Given the description of an element on the screen output the (x, y) to click on. 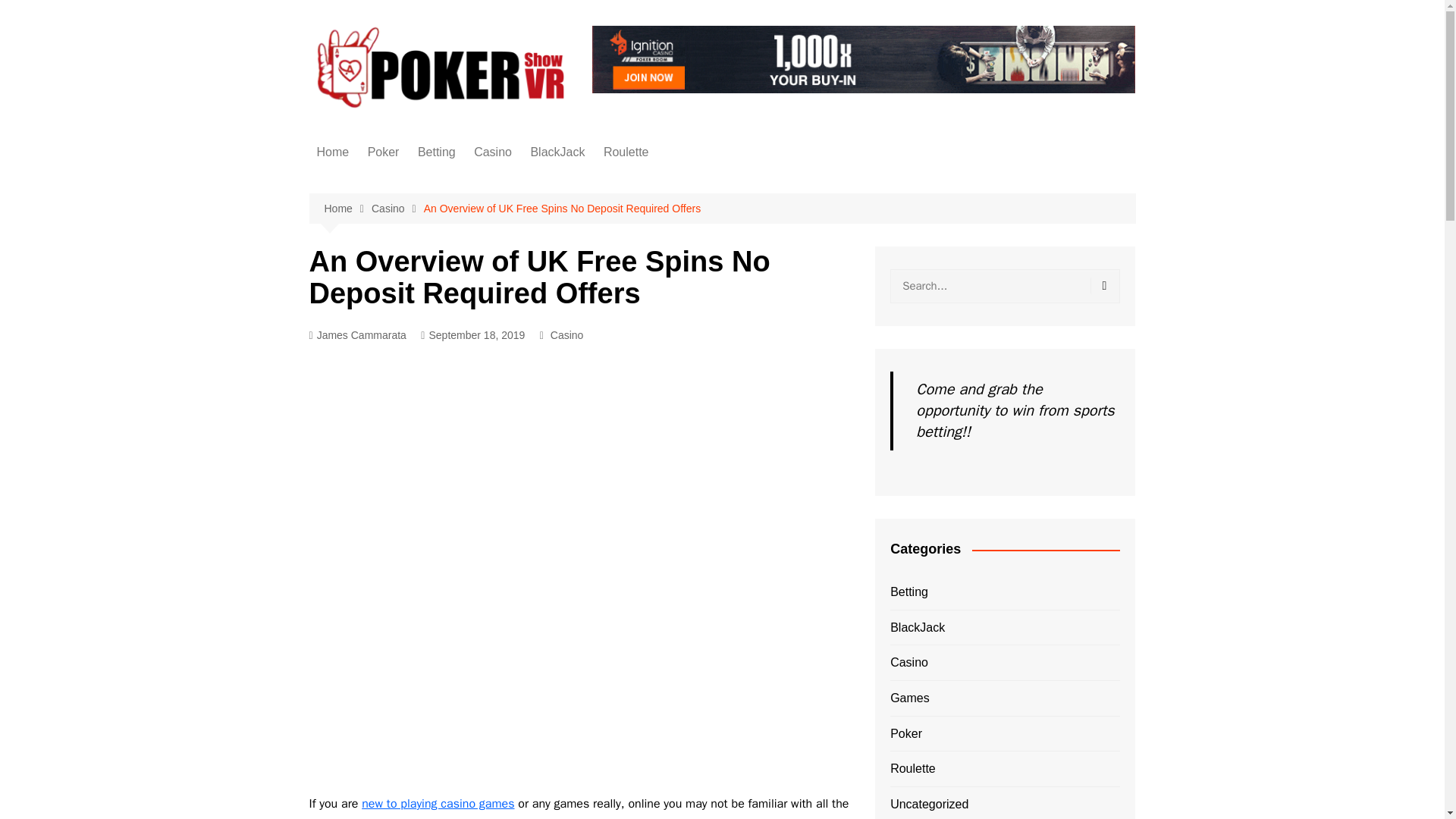
Casino (492, 152)
Poker (383, 152)
An Overview of UK Free Spins No Deposit Required Offers (561, 208)
Home (347, 208)
Casino (566, 334)
James Cammarata (357, 334)
Roulette (625, 152)
Casino (397, 208)
BlackJack (557, 152)
September 18, 2019 (472, 334)
